Given the description of an element on the screen output the (x, y) to click on. 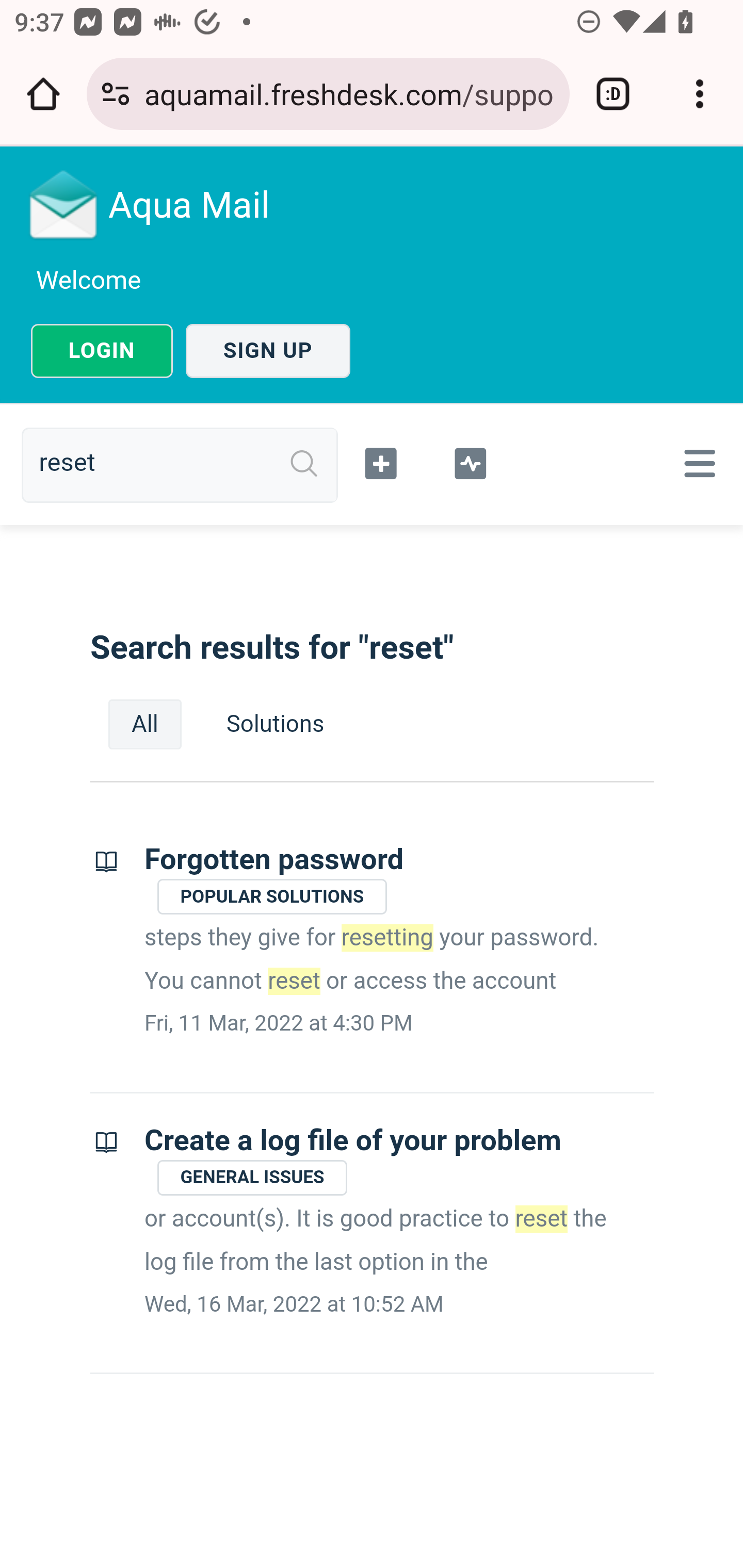
Open the home page (43, 93)
Connection is secure (115, 93)
Switch or close tabs (612, 93)
Customize and control Google Chrome (699, 93)
aquamail.freshdesk.com/support/search?term=reset (349, 92)
Logo (63, 204)
LOGIN (101, 351)
SIGN UP (268, 351)
 (695, 463)
reset (187, 464)
Search (304, 464)
 (381, 460)
 (470, 460)
All (145, 724)
Solutions (275, 724)
Forgotten password (274, 860)
Create a log file of your problem (353, 1140)
